Given the description of an element on the screen output the (x, y) to click on. 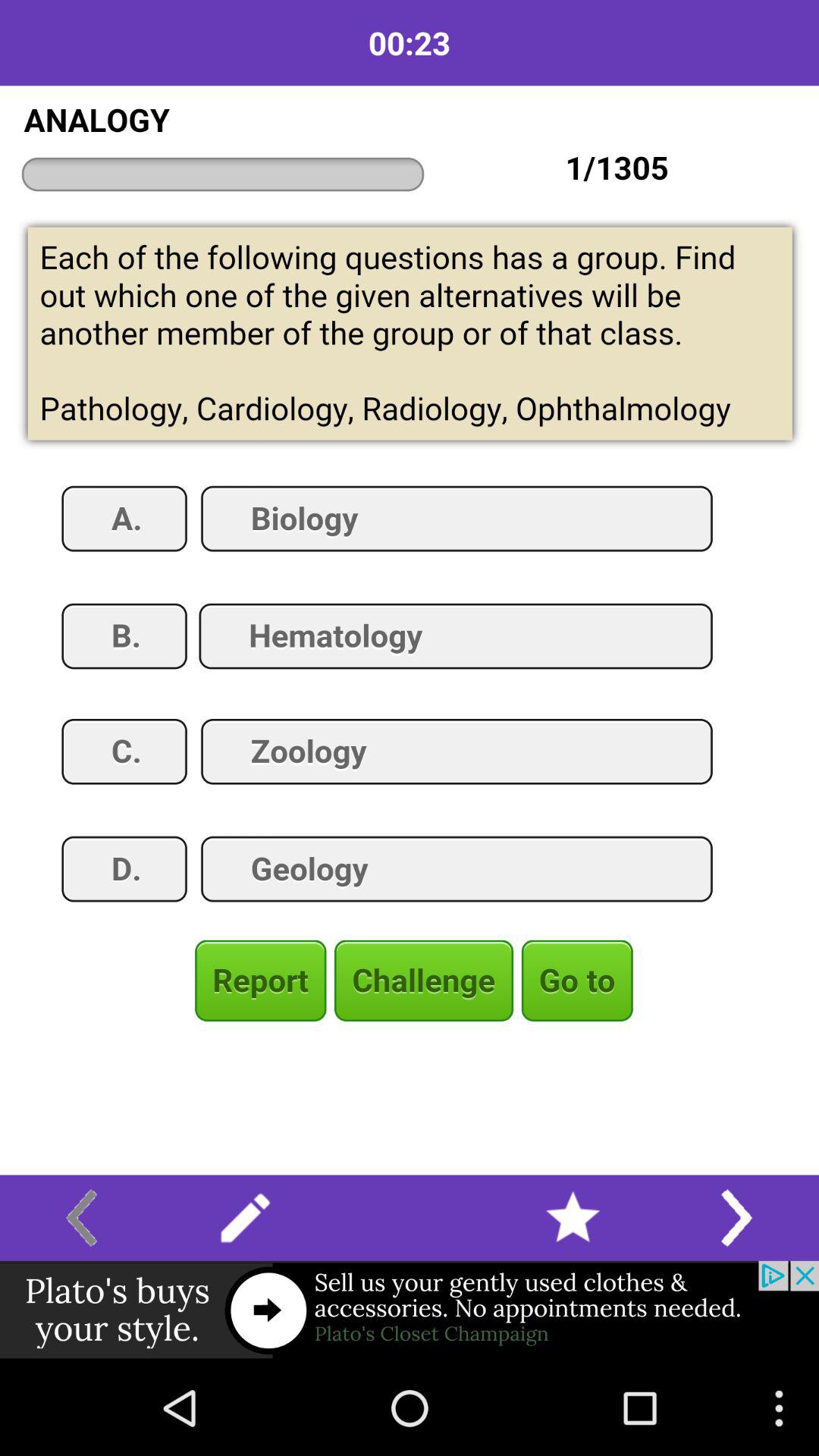
star or bookmark question (572, 1217)
